Given the description of an element on the screen output the (x, y) to click on. 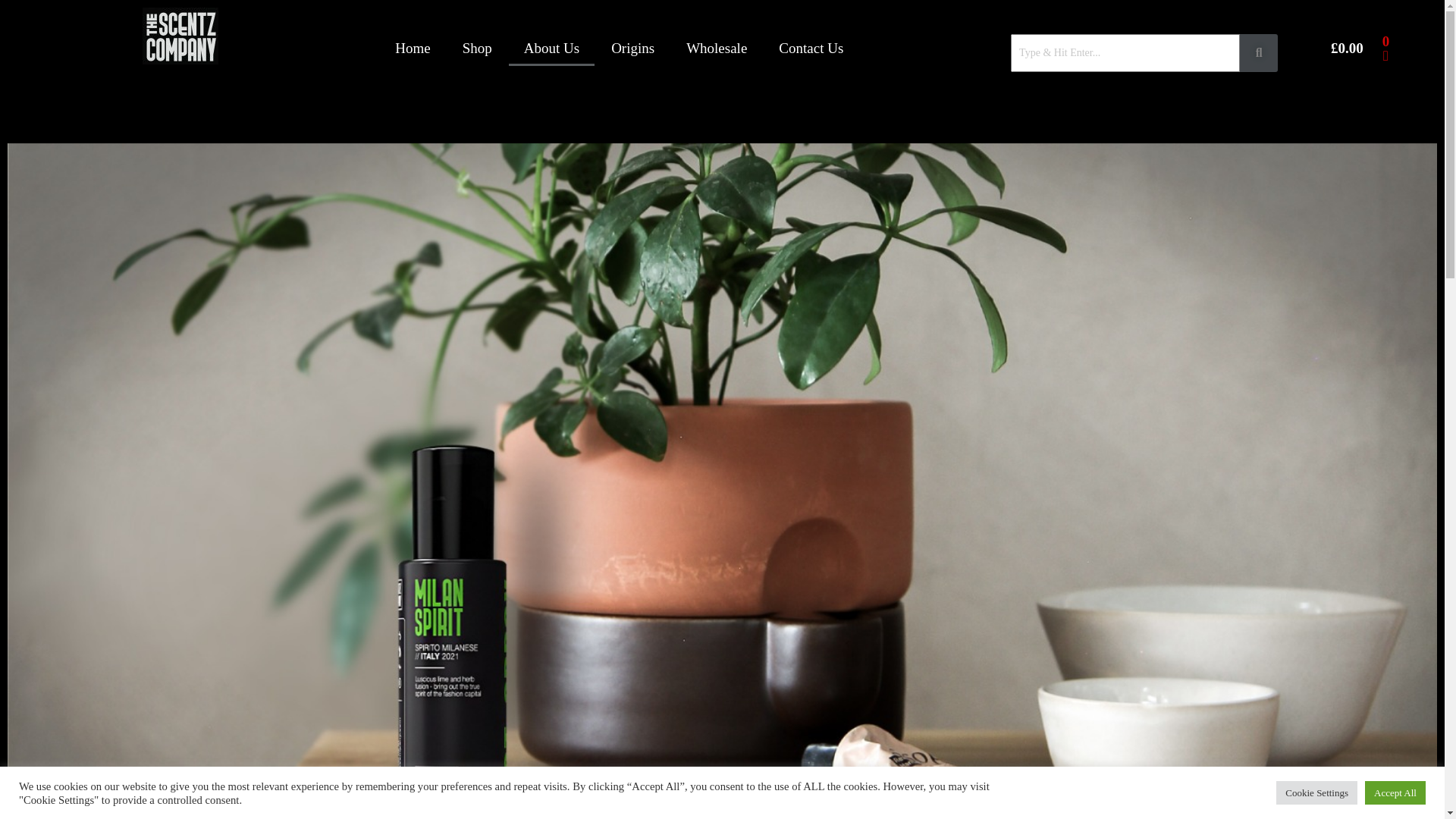
About Us (551, 48)
scentzcompanybgrep (180, 35)
Contact Us (810, 48)
Origins (632, 48)
Cookie Settings (1316, 792)
Home (412, 48)
Shop (476, 48)
Accept All (1395, 792)
Search (1125, 53)
Wholesale (716, 48)
